Given the description of an element on the screen output the (x, y) to click on. 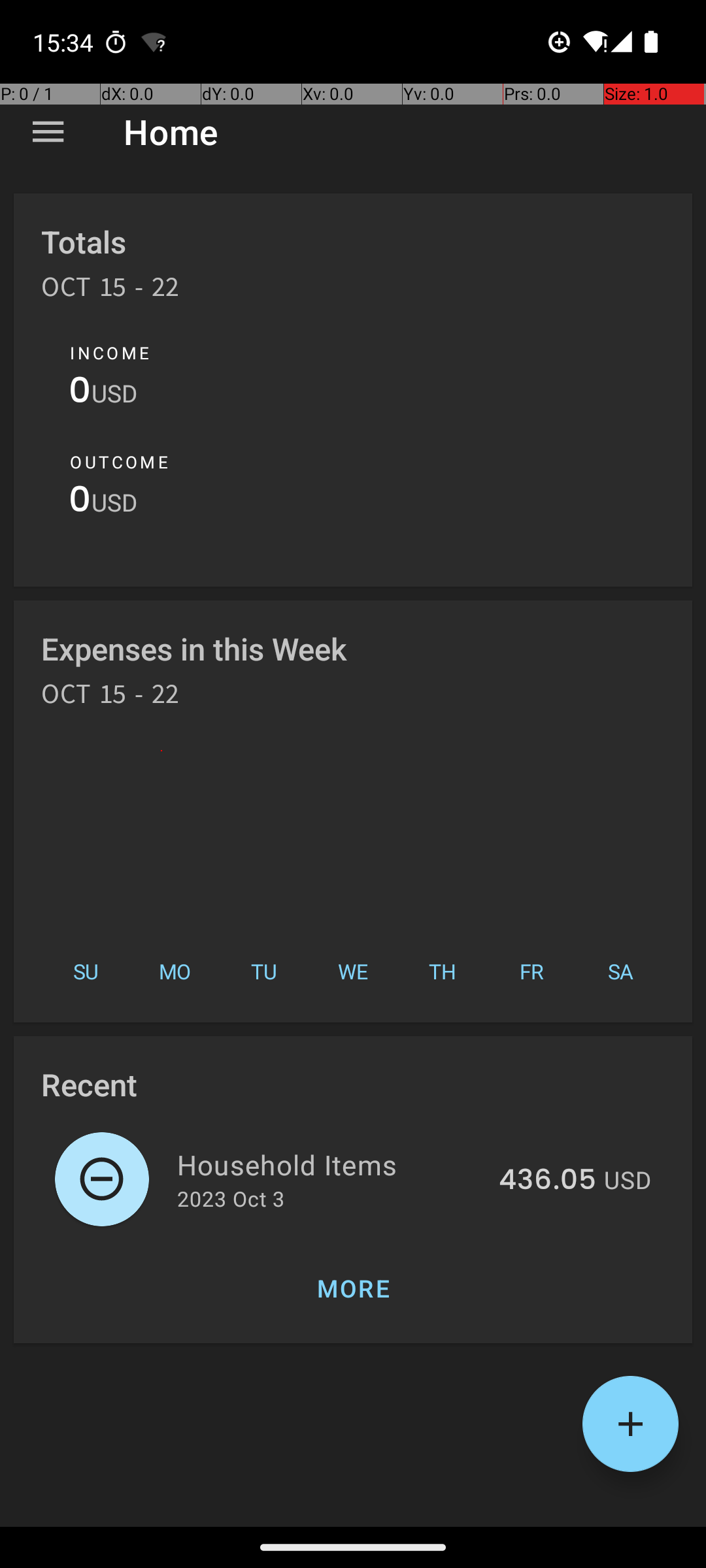
Household Items Element type: android.widget.TextView (330, 1164)
2023 Oct 3 Element type: android.widget.TextView (230, 1198)
436.05 Element type: android.widget.TextView (547, 1180)
